Given the description of an element on the screen output the (x, y) to click on. 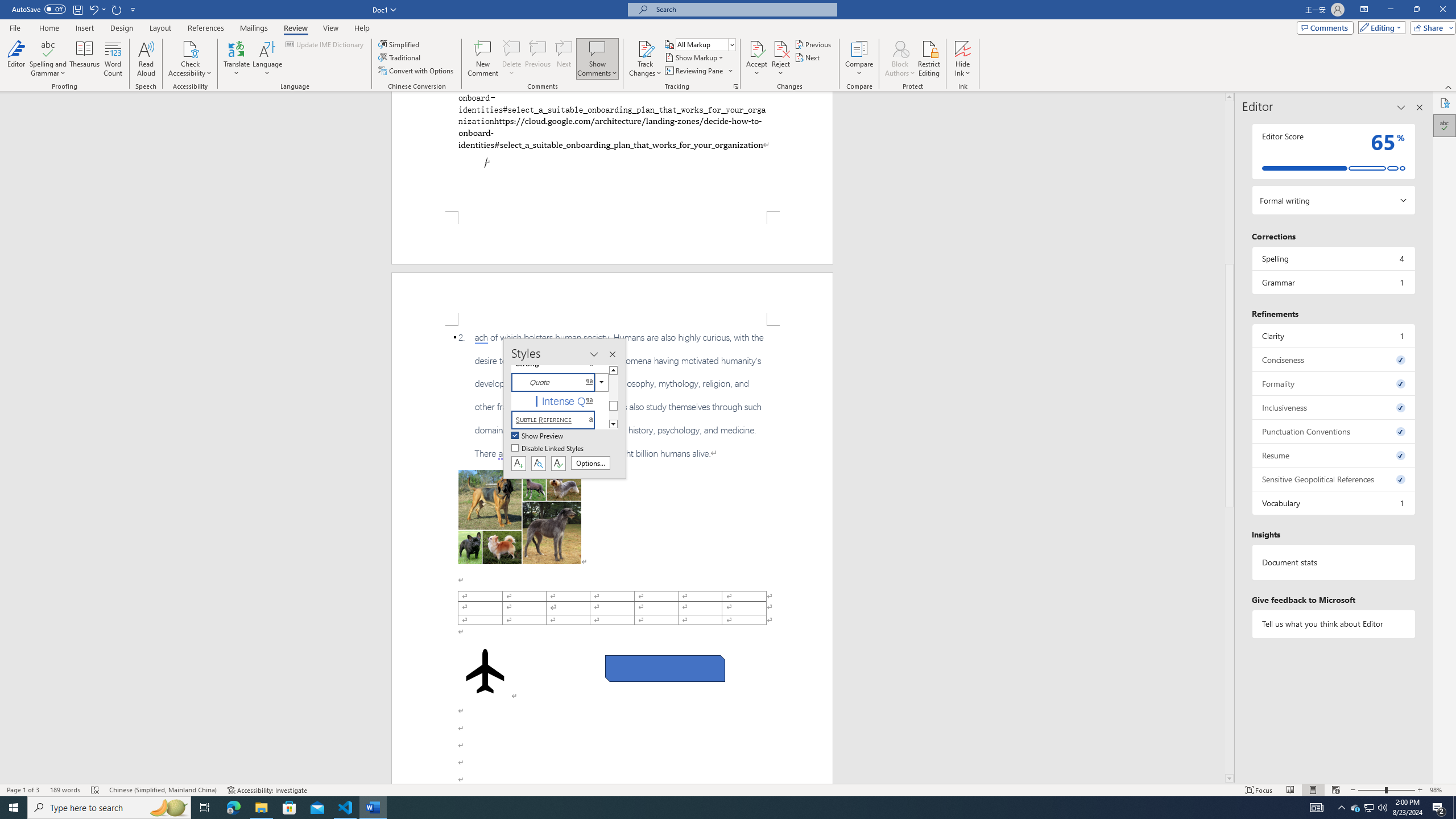
Class: MsoCommandBar (728, 789)
Hide Ink (962, 58)
Intense Quote (559, 400)
Strong (559, 363)
Spelling, 4 issues. Press space or enter to review items. (1333, 258)
Airplane with solid fill (485, 670)
Accessibility Checker Accessibility: Investigate (266, 790)
Class: NetUIButton (558, 463)
Show Comments (597, 58)
Thesaurus... (84, 58)
Undo Style (92, 9)
